Given the description of an element on the screen output the (x, y) to click on. 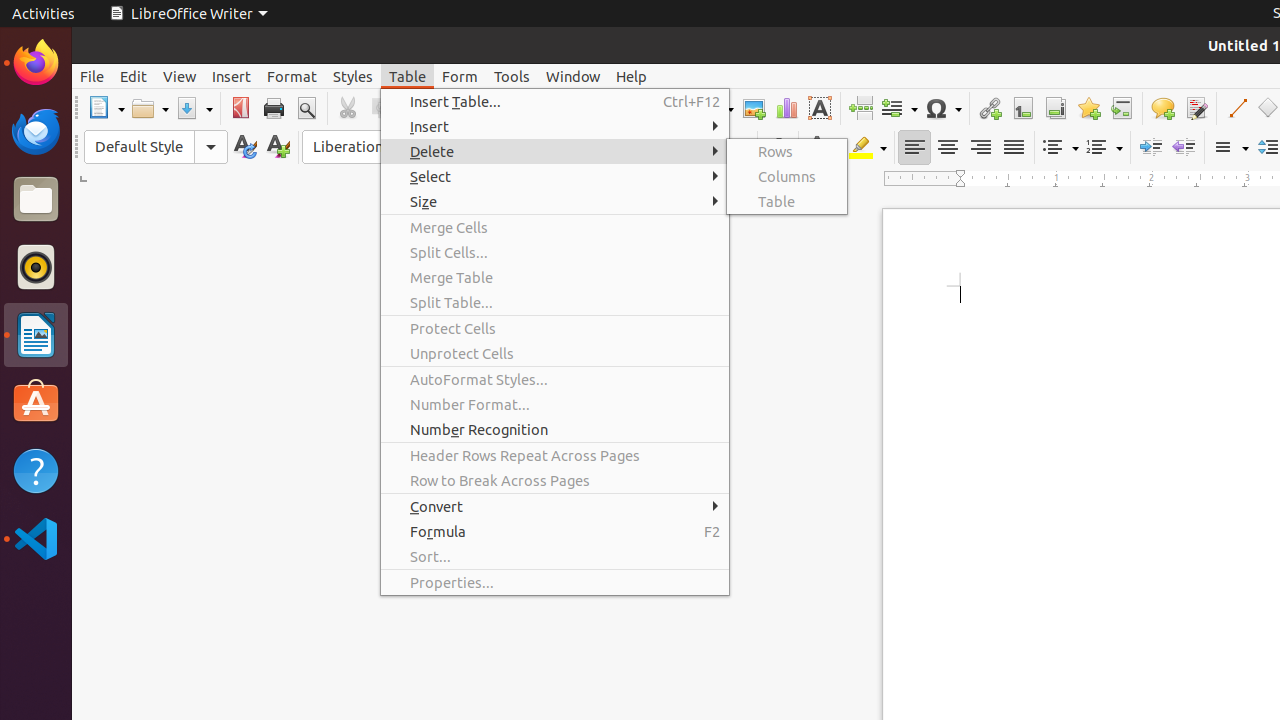
LibreOffice Writer Element type: menu (188, 13)
Footnote Element type: push-button (1022, 108)
Field Element type: push-button (899, 108)
Cross-reference Element type: push-button (1121, 108)
Comment Element type: push-button (1162, 108)
